Given the description of an element on the screen output the (x, y) to click on. 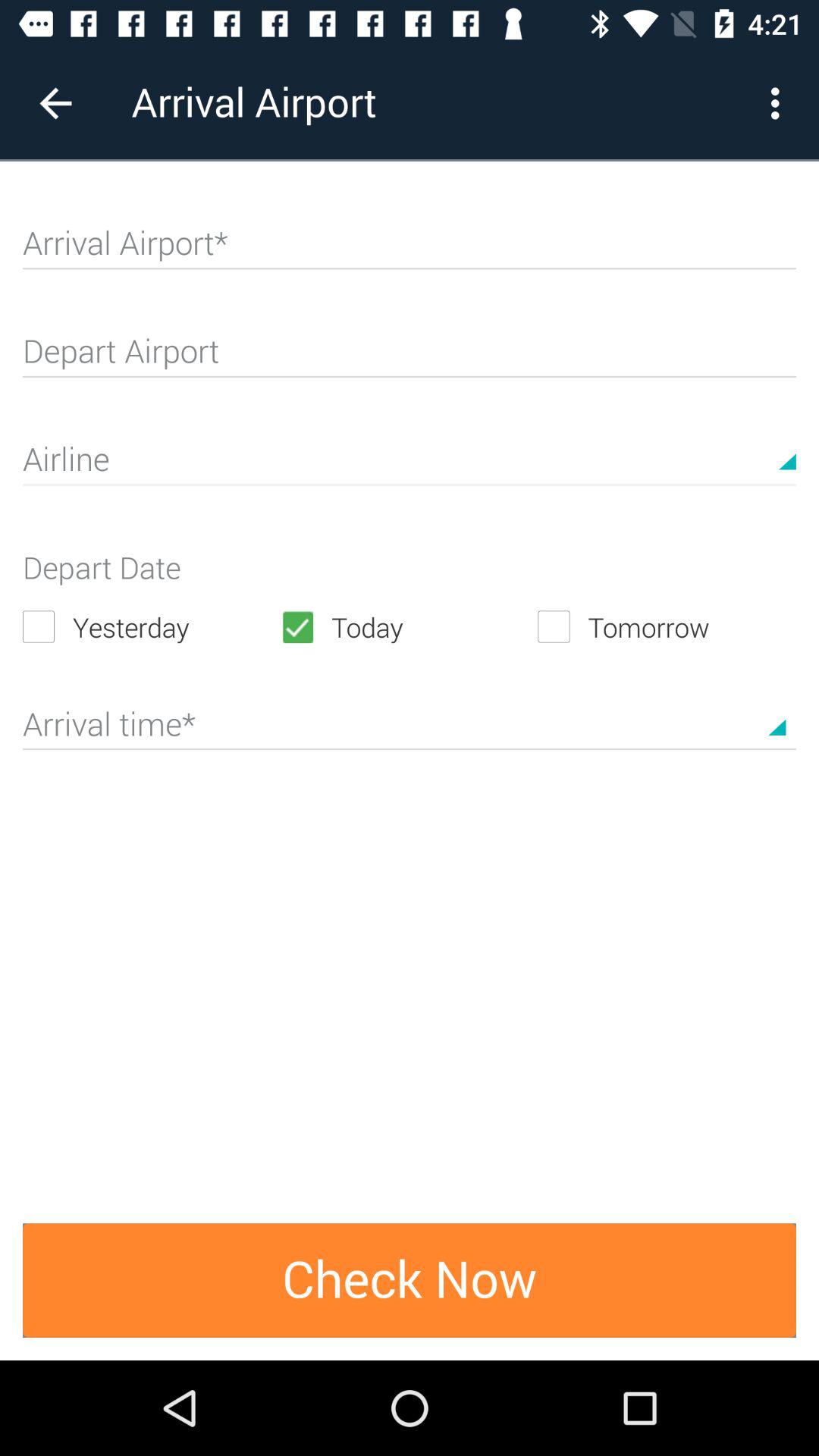
launch item next to arrival airport icon (779, 103)
